Given the description of an element on the screen output the (x, y) to click on. 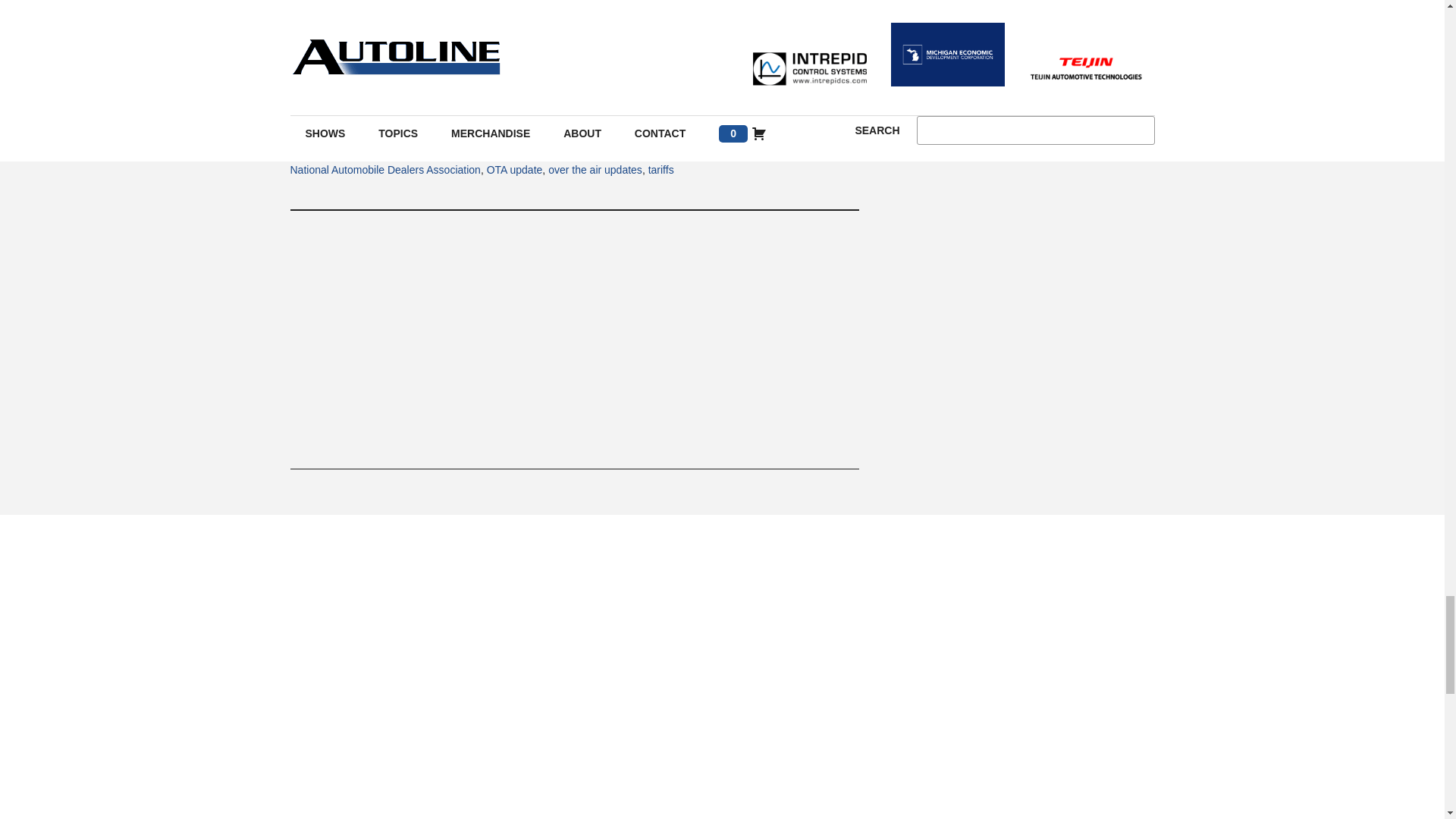
Youtube (574, 101)
